Given the description of an element on the screen output the (x, y) to click on. 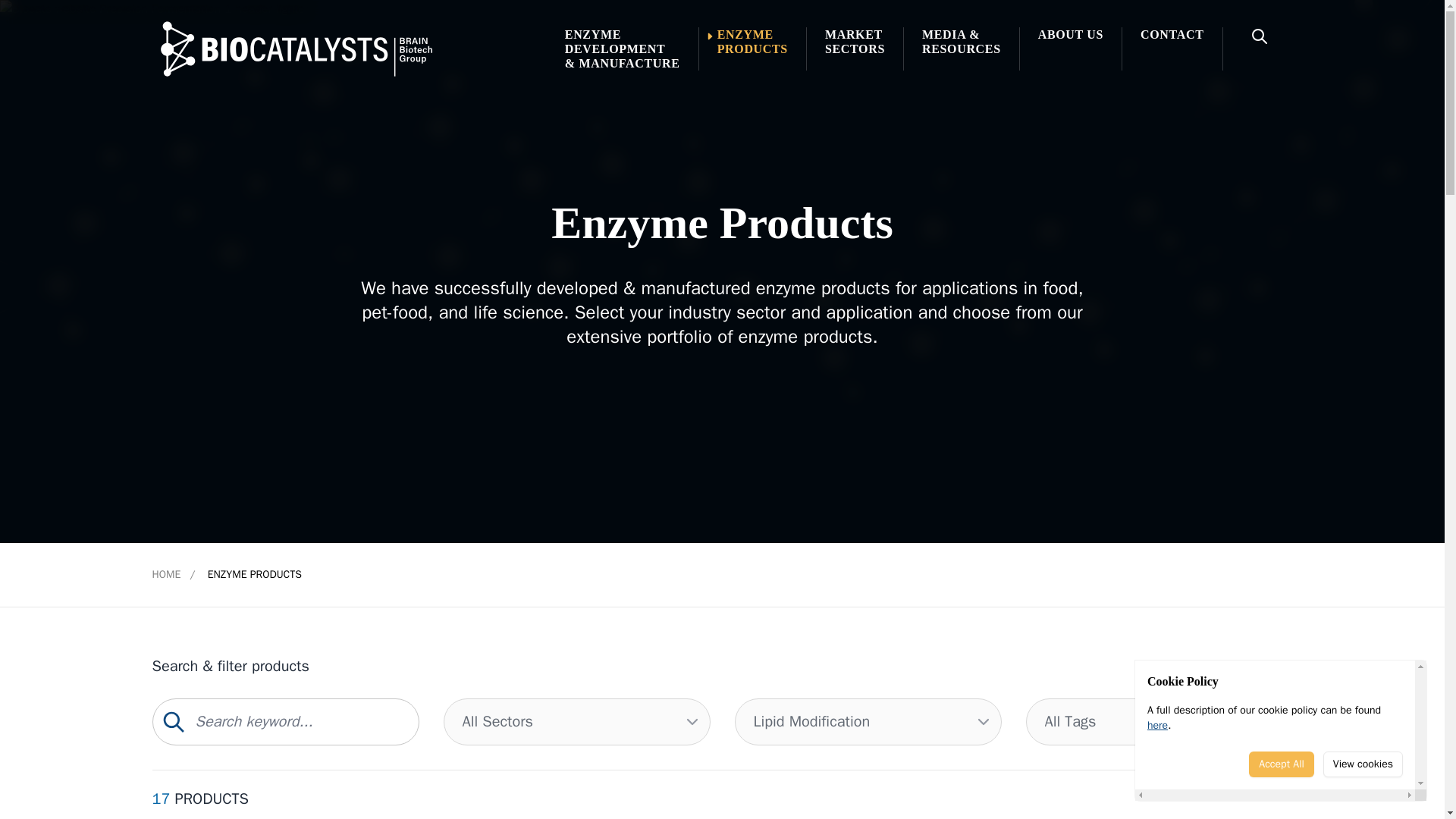
ABOUT US (1070, 48)
Accept All (855, 48)
Biocatalysts (1281, 764)
CONTACT (752, 48)
View cookies (296, 48)
here (1172, 48)
